Given the description of an element on the screen output the (x, y) to click on. 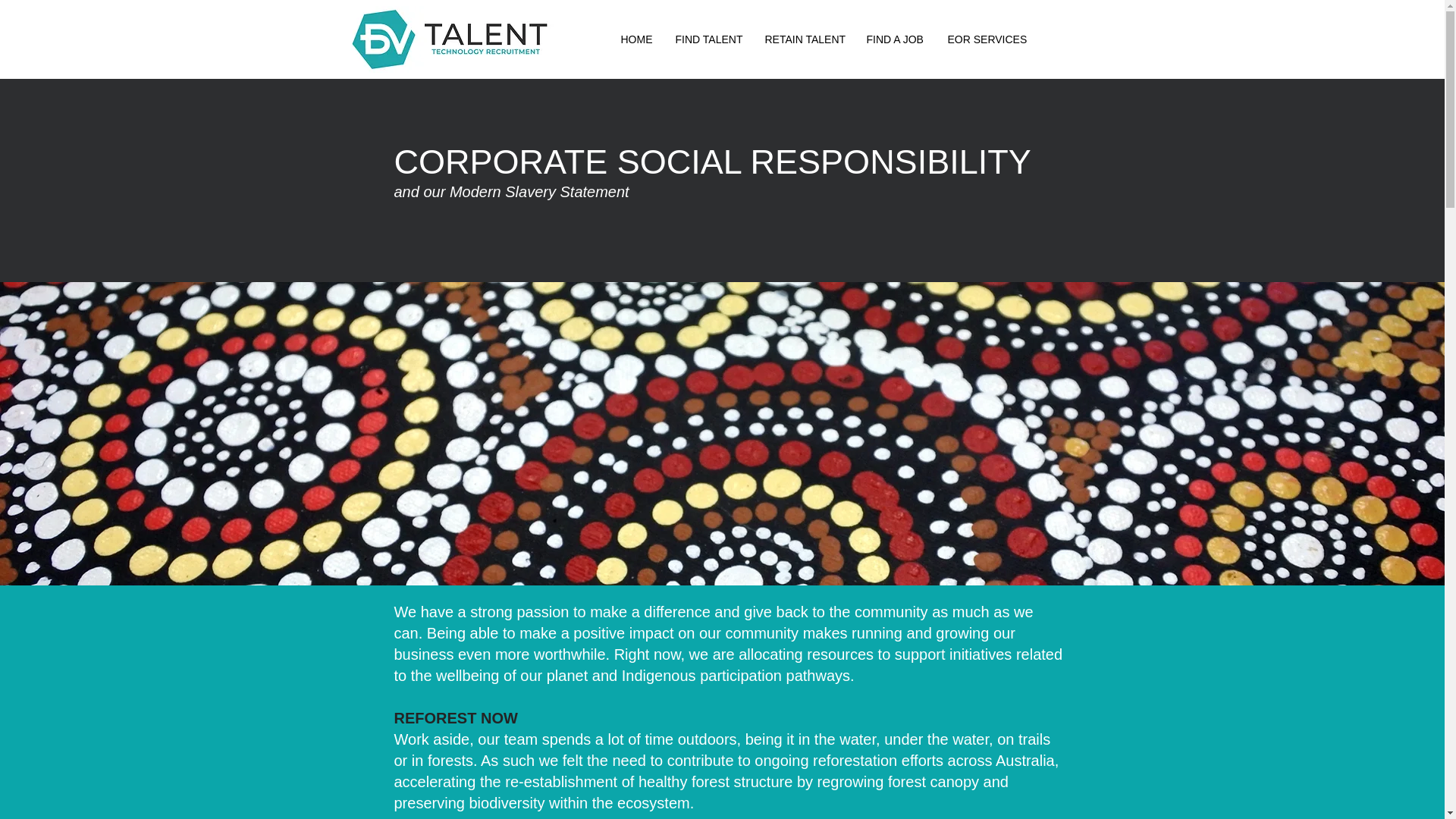
FIND A JOB (896, 38)
RETAIN TALENT (805, 38)
FIND TALENT (708, 38)
HOME (636, 38)
EOR SERVICES (985, 38)
